Given the description of an element on the screen output the (x, y) to click on. 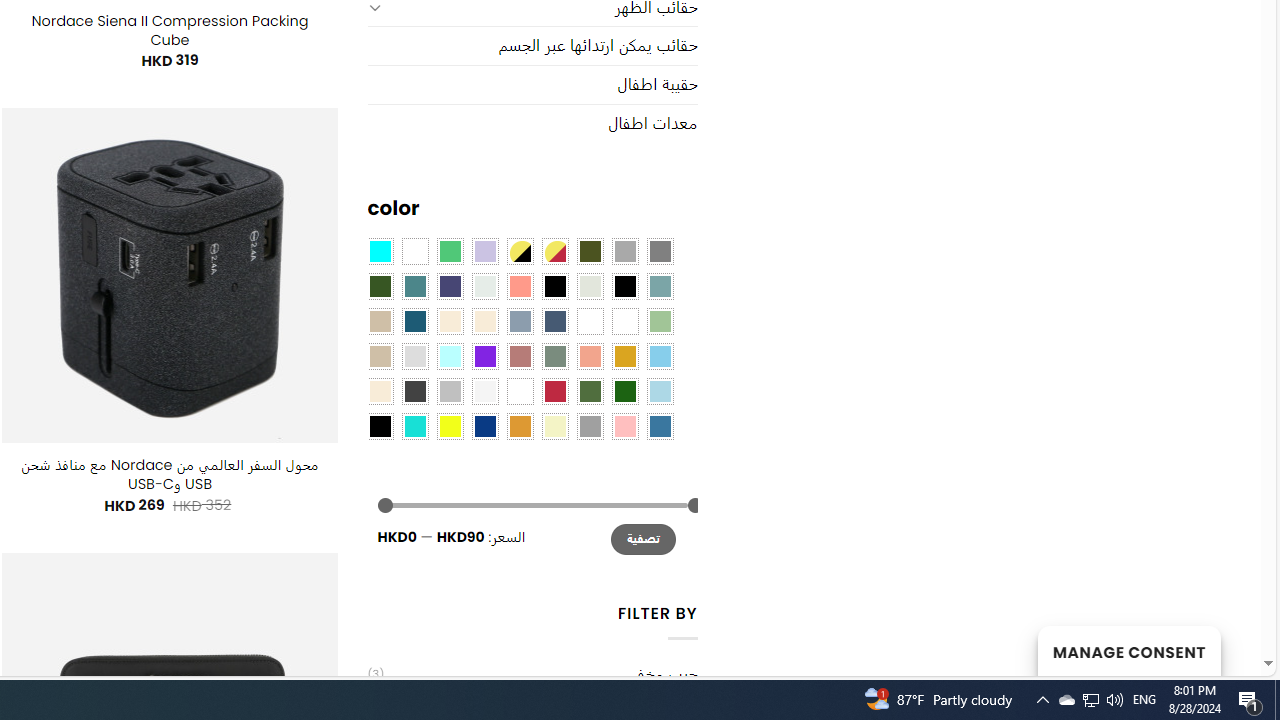
Light-Gray (414, 355)
Kelp (589, 321)
Light Purple (484, 251)
Dull Nickle (484, 285)
MANAGE CONSENT (1128, 650)
Blue Sage (659, 285)
